Given the description of an element on the screen output the (x, y) to click on. 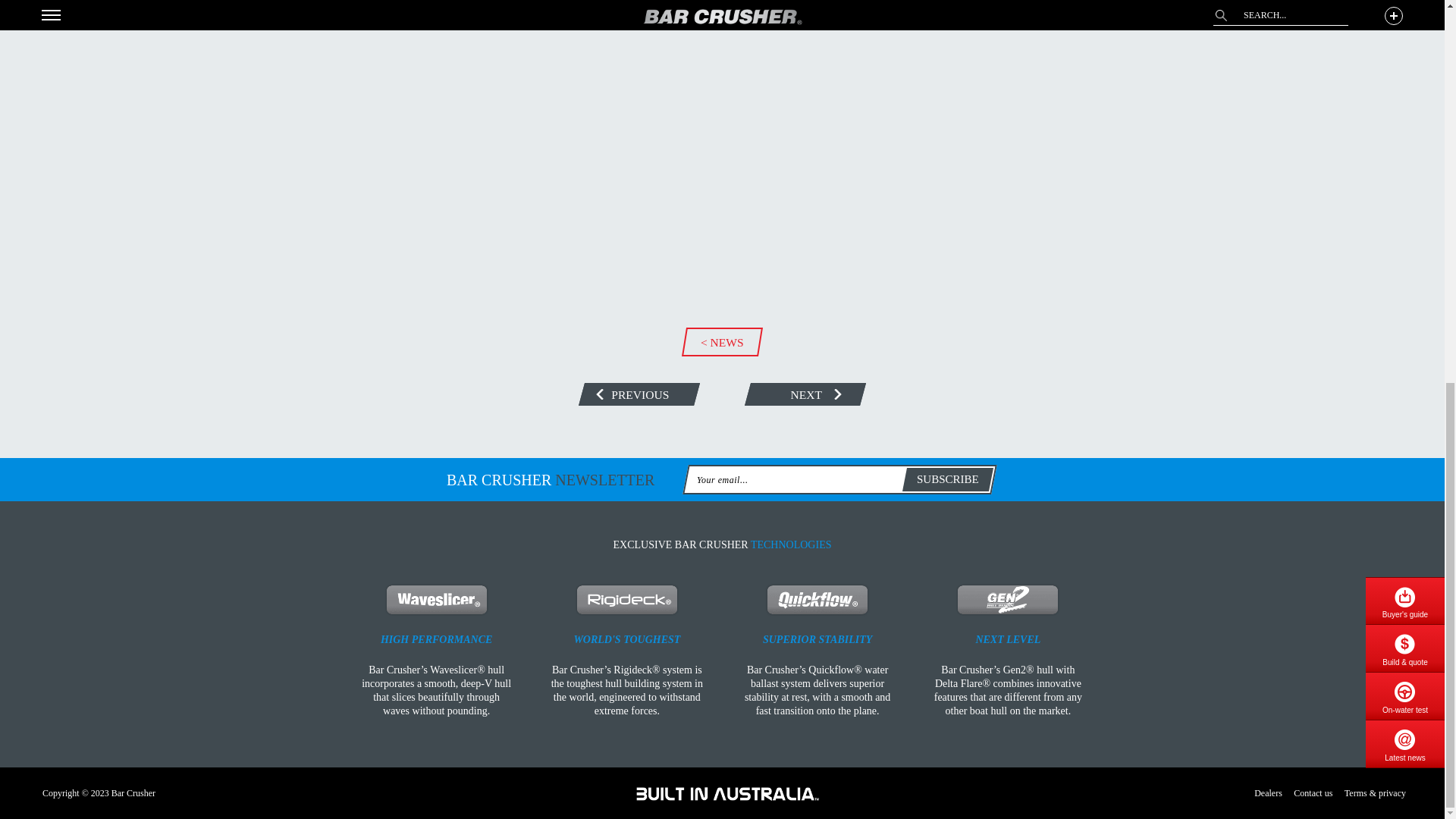
Standard Ultrasound Logo (727, 793)
Challenging GT fishing (636, 394)
Black jewfish window (802, 394)
Subscribe (947, 479)
